Given the description of an element on the screen output the (x, y) to click on. 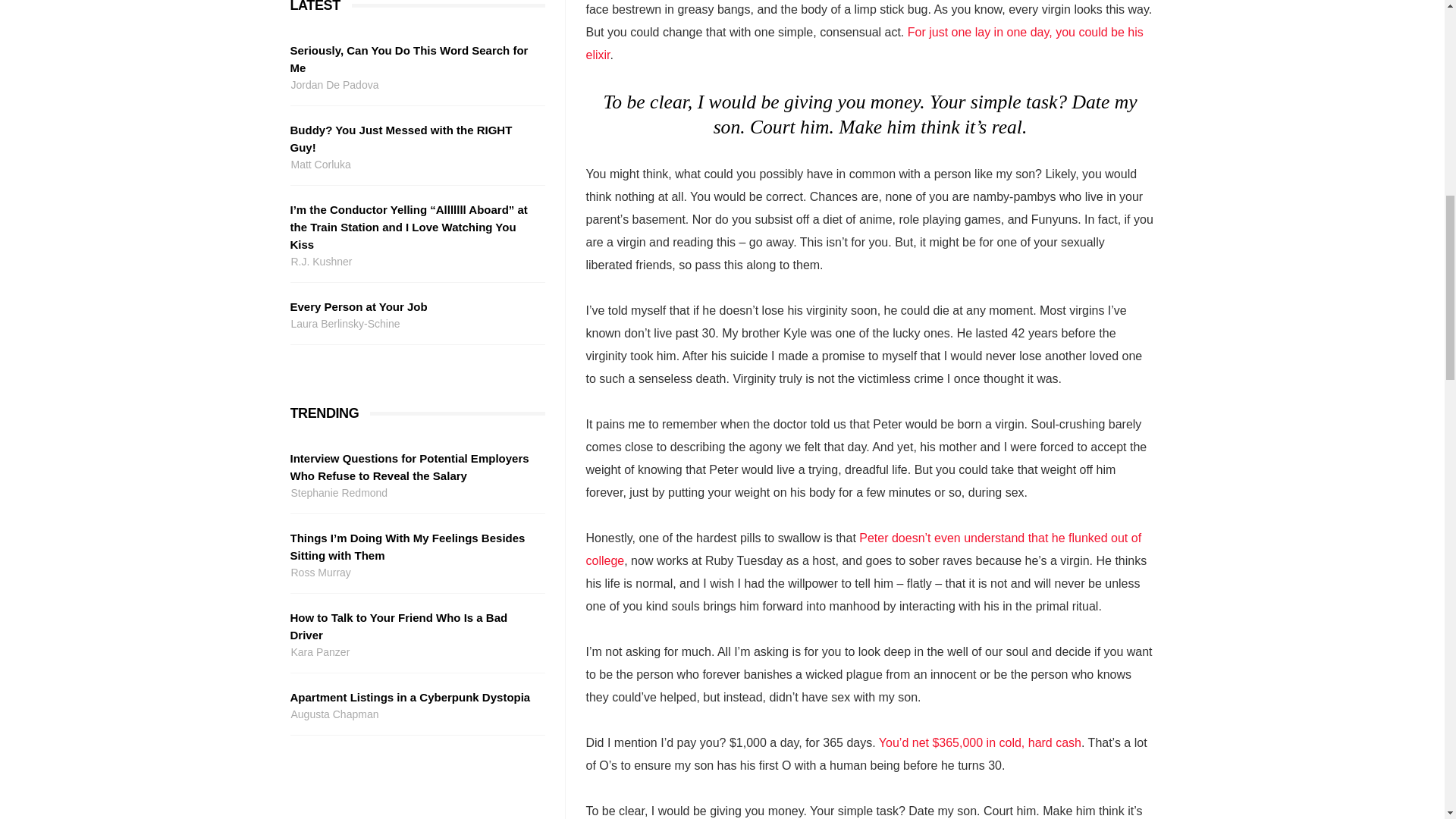
For just one lay in one day, you could be his elixir (863, 43)
Laura Berlinsky-Schine (414, 323)
Matt Corluka (414, 164)
R.J. Kushner (414, 262)
Buddy? You Just Messed with the RIGHT Guy! (414, 138)
Every Person at Your Job (414, 306)
Jordan De Padova (414, 85)
Seriously, Can You Do This Word Search for Me (414, 58)
Stephanie Redmond (414, 493)
